Given the description of an element on the screen output the (x, y) to click on. 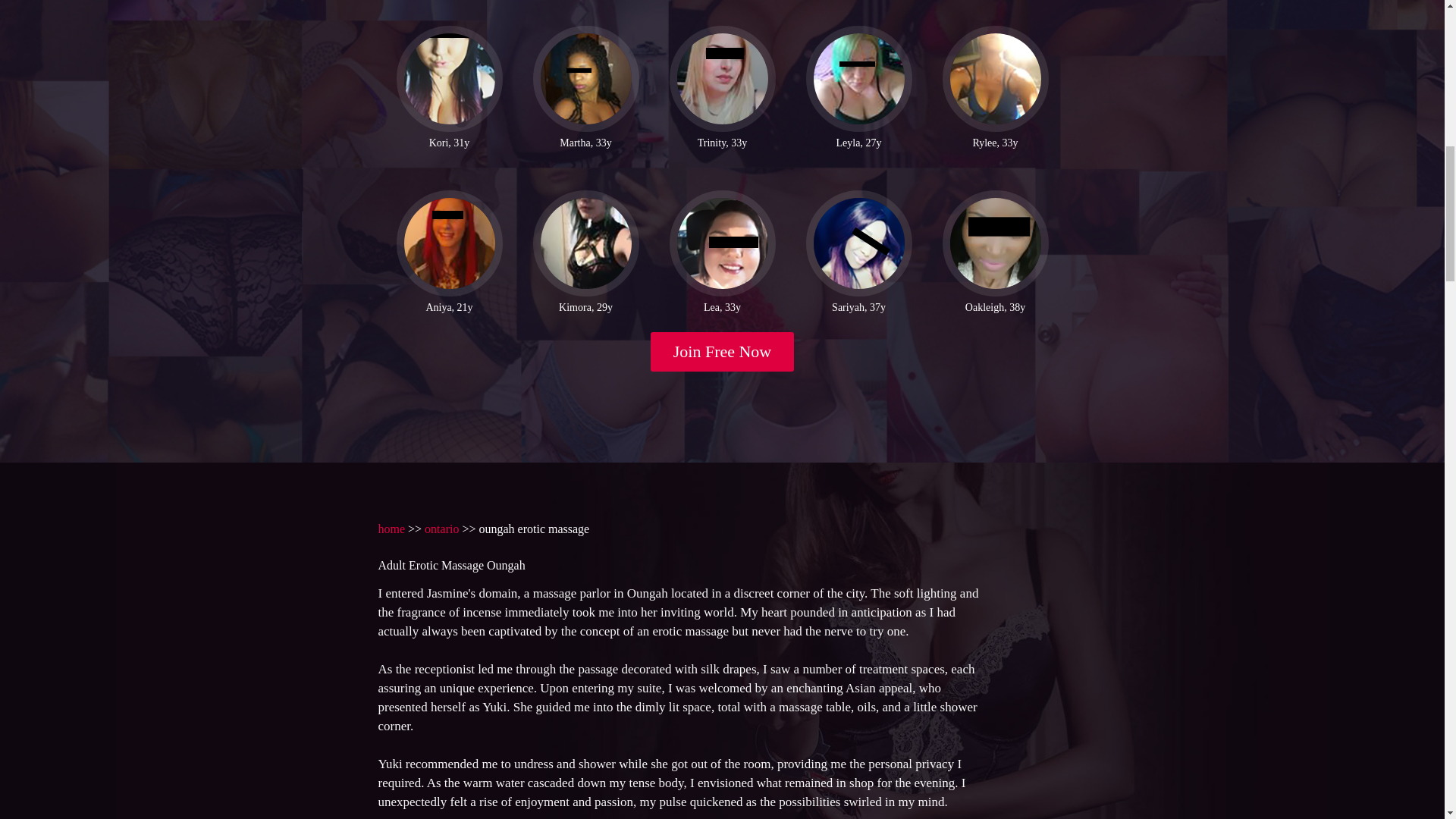
Join (722, 351)
Join Free Now (722, 351)
ontario (441, 528)
home (390, 528)
